Given the description of an element on the screen output the (x, y) to click on. 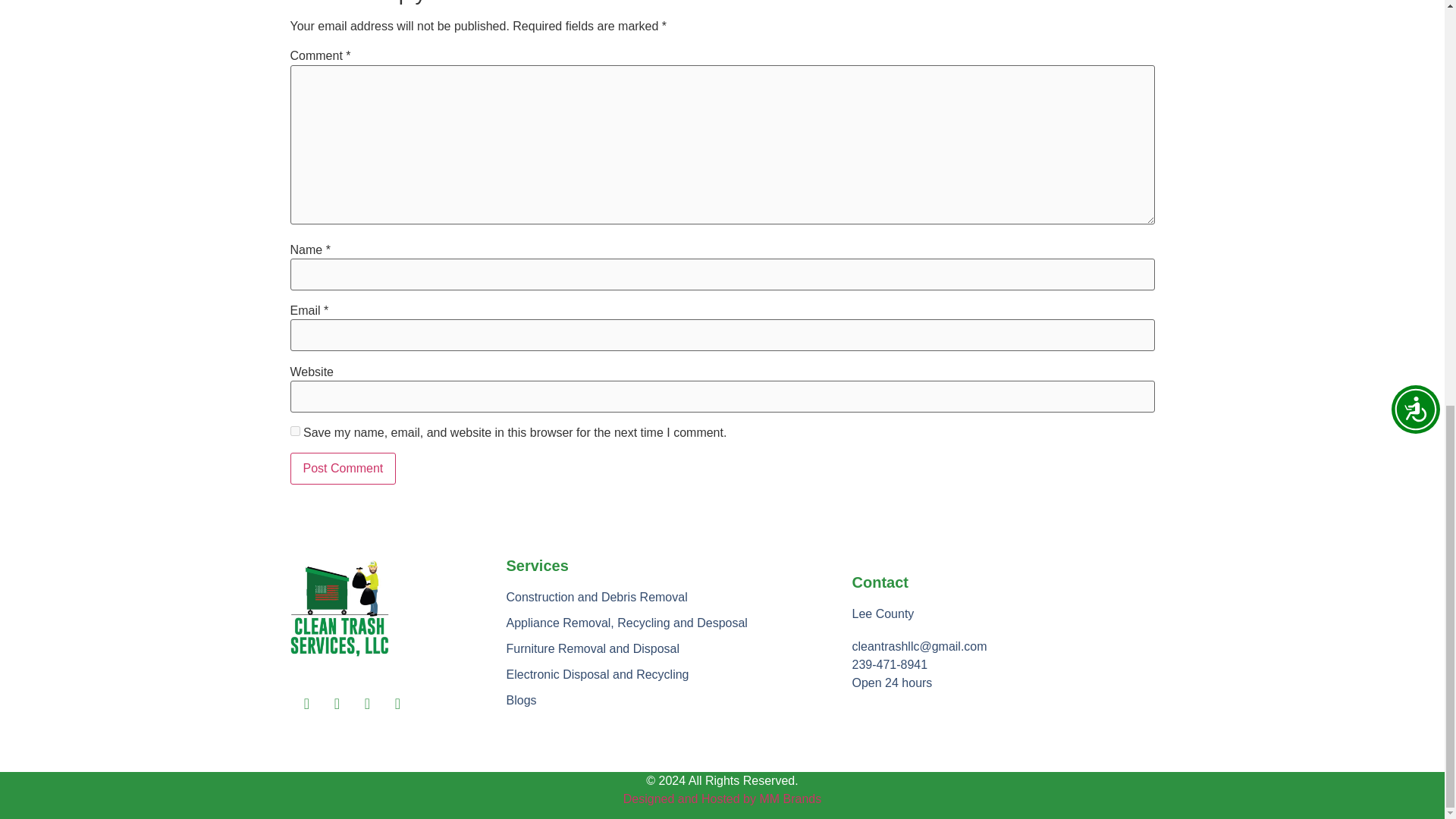
Furniture Removal and Disposal (678, 648)
Electronic Disposal and Recycling (678, 674)
Appliance Removal, Recycling and Desposal (678, 623)
yes (294, 430)
Post Comment (342, 468)
Post Comment (342, 468)
Blogs (678, 700)
Construction and Debris Removal (678, 597)
